Given the description of an element on the screen output the (x, y) to click on. 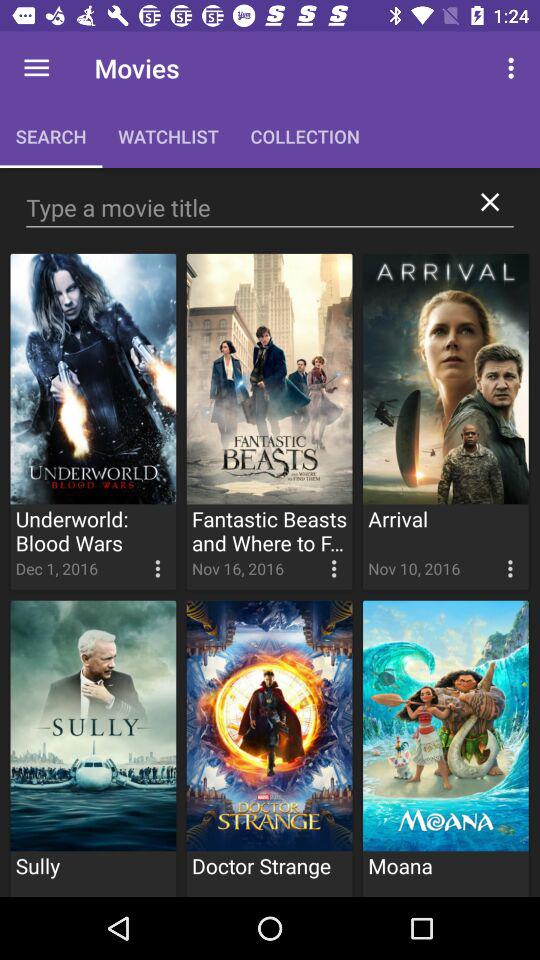
select the image which is above the text arrival (445, 379)
